Given the description of an element on the screen output the (x, y) to click on. 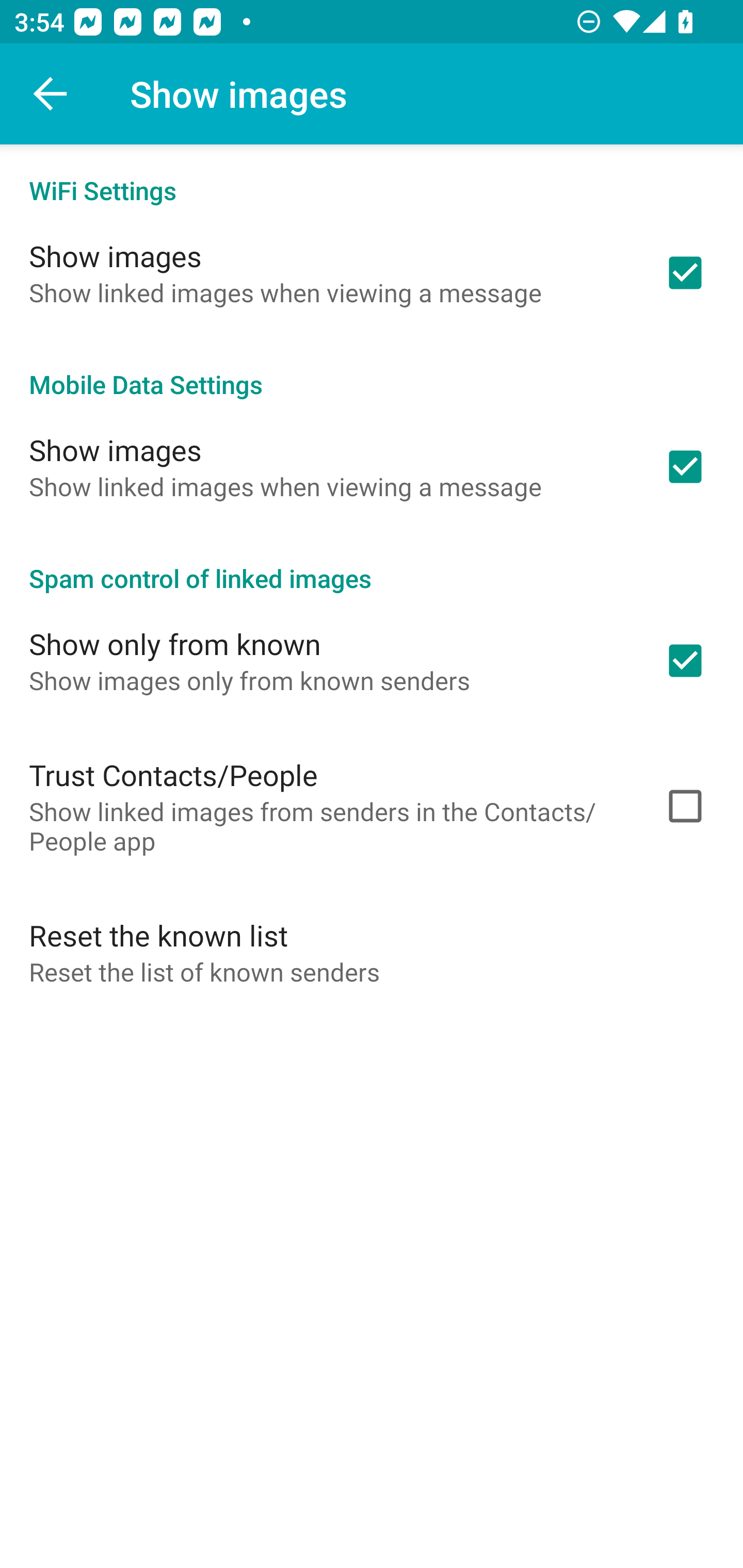
Navigate up (50, 93)
